Given the description of an element on the screen output the (x, y) to click on. 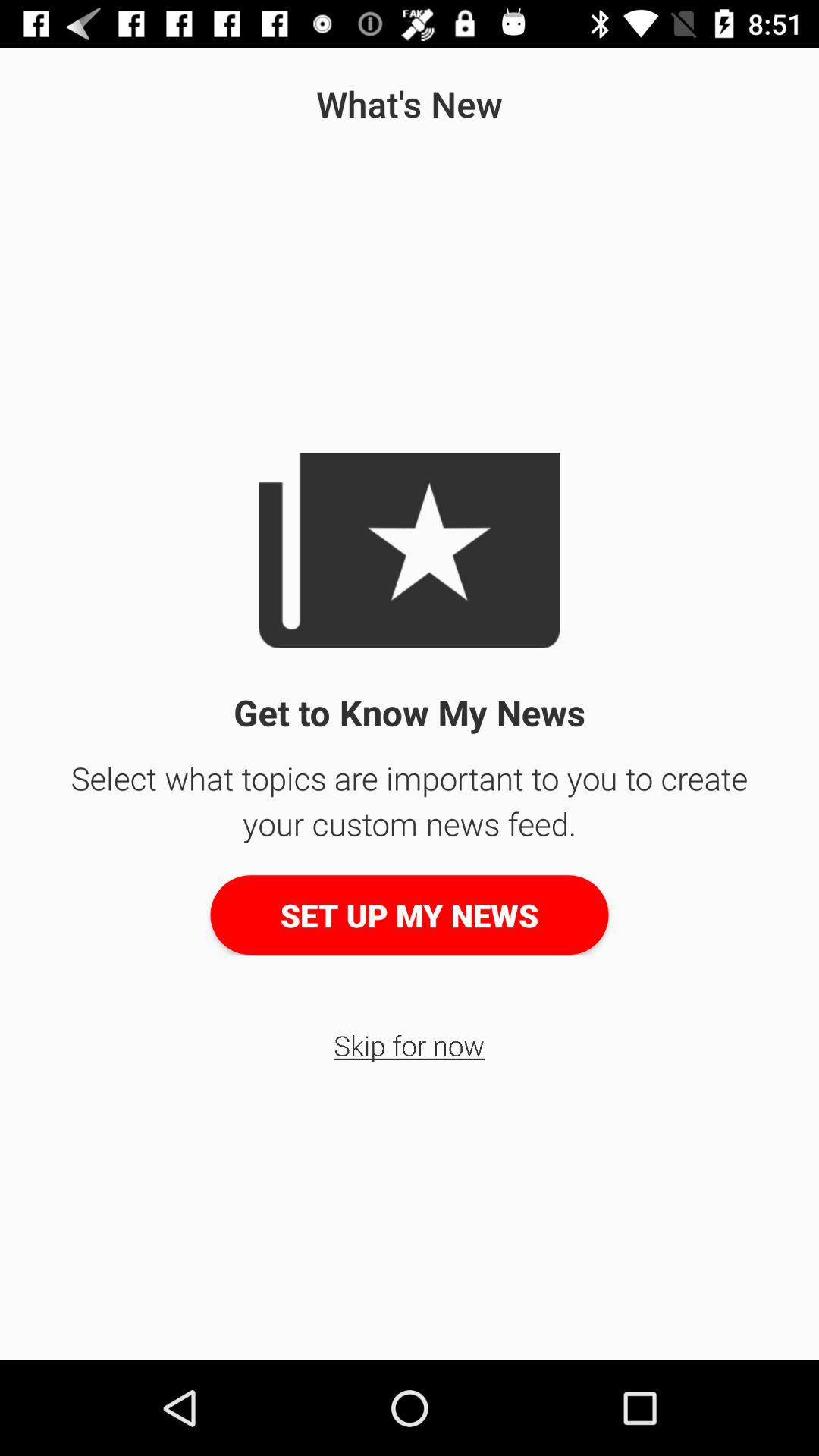
turn on item below the set up my item (409, 1044)
